Given the description of an element on the screen output the (x, y) to click on. 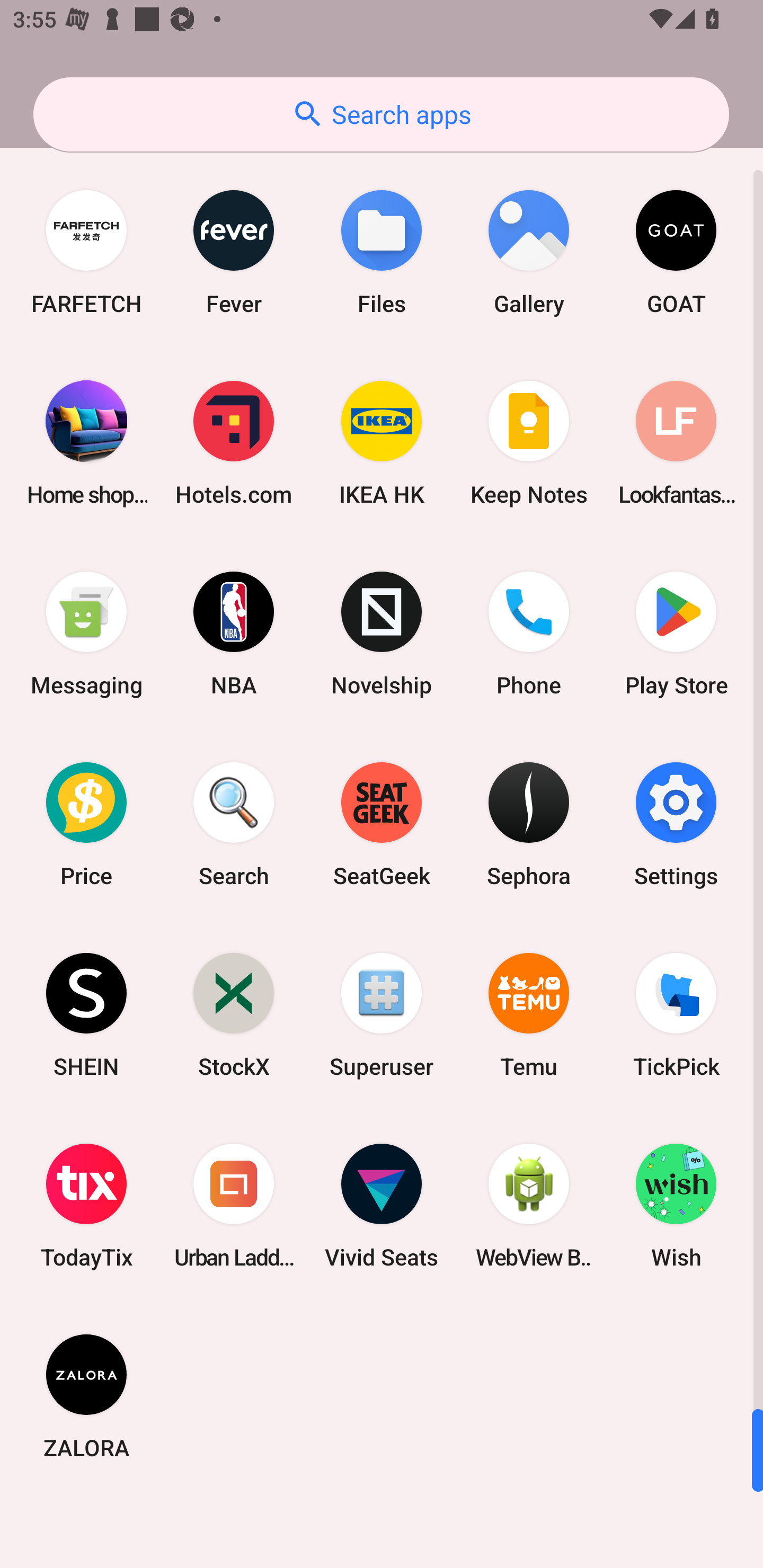
  Search apps (381, 114)
FARFETCH (86, 252)
Fever (233, 252)
Files (381, 252)
Gallery (528, 252)
GOAT (676, 252)
Home shopping (86, 442)
Hotels.com (233, 442)
IKEA HK (381, 442)
Keep Notes (528, 442)
Lookfantastic (676, 442)
Messaging (86, 633)
NBA (233, 633)
Novelship (381, 633)
Phone (528, 633)
Play Store (676, 633)
Price (86, 823)
Search (233, 823)
SeatGeek (381, 823)
Sephora (528, 823)
Settings (676, 823)
SHEIN (86, 1014)
StockX (233, 1014)
Superuser (381, 1014)
Temu (528, 1014)
TickPick (676, 1014)
TodayTix (86, 1205)
Urban Ladder (233, 1205)
Vivid Seats (381, 1205)
WebView Browser Tester (528, 1205)
Wish (676, 1205)
ZALORA (86, 1396)
